Given the description of an element on the screen output the (x, y) to click on. 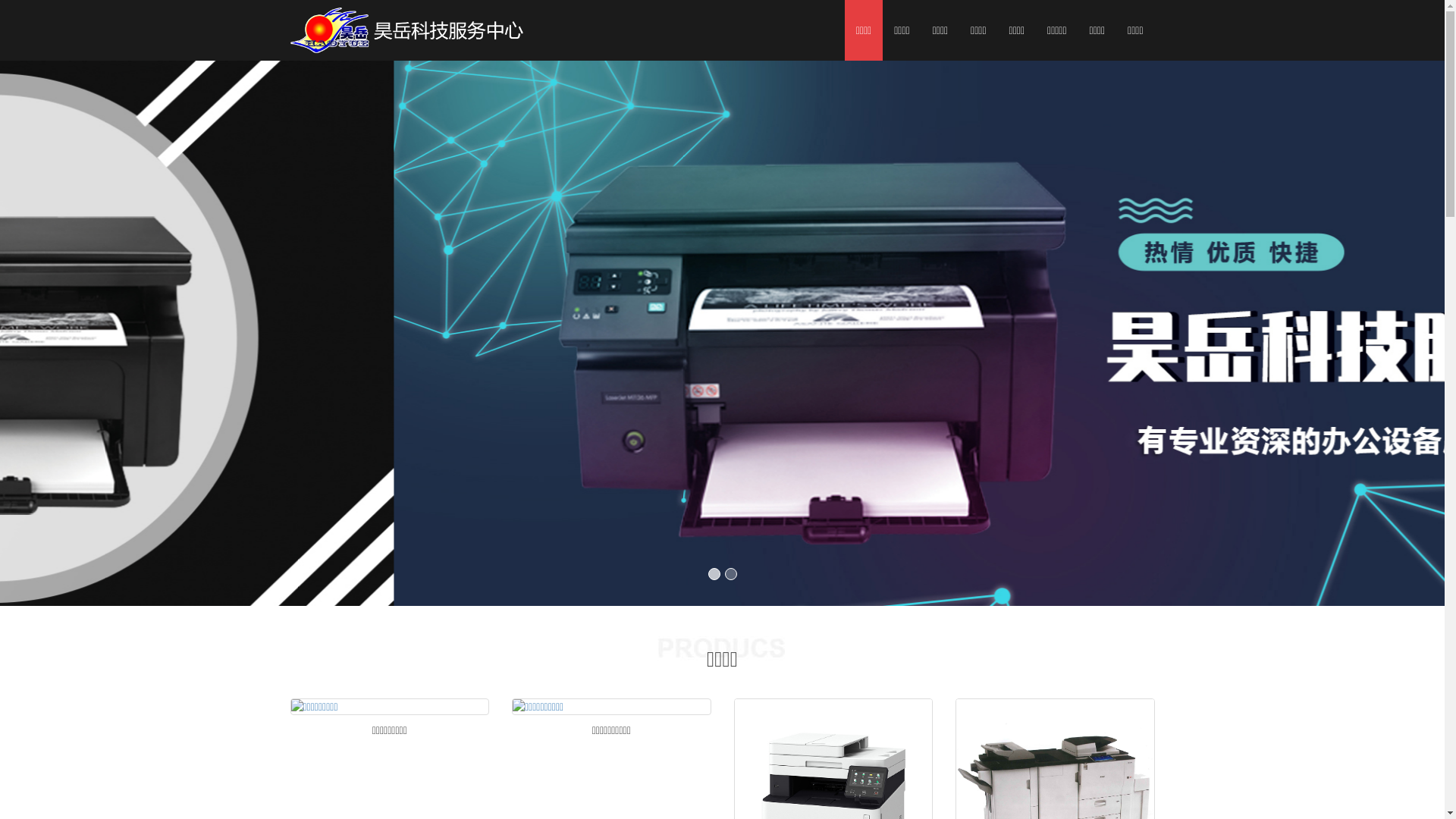
1 Element type: text (714, 573)
2 Element type: text (730, 573)
